Given the description of an element on the screen output the (x, y) to click on. 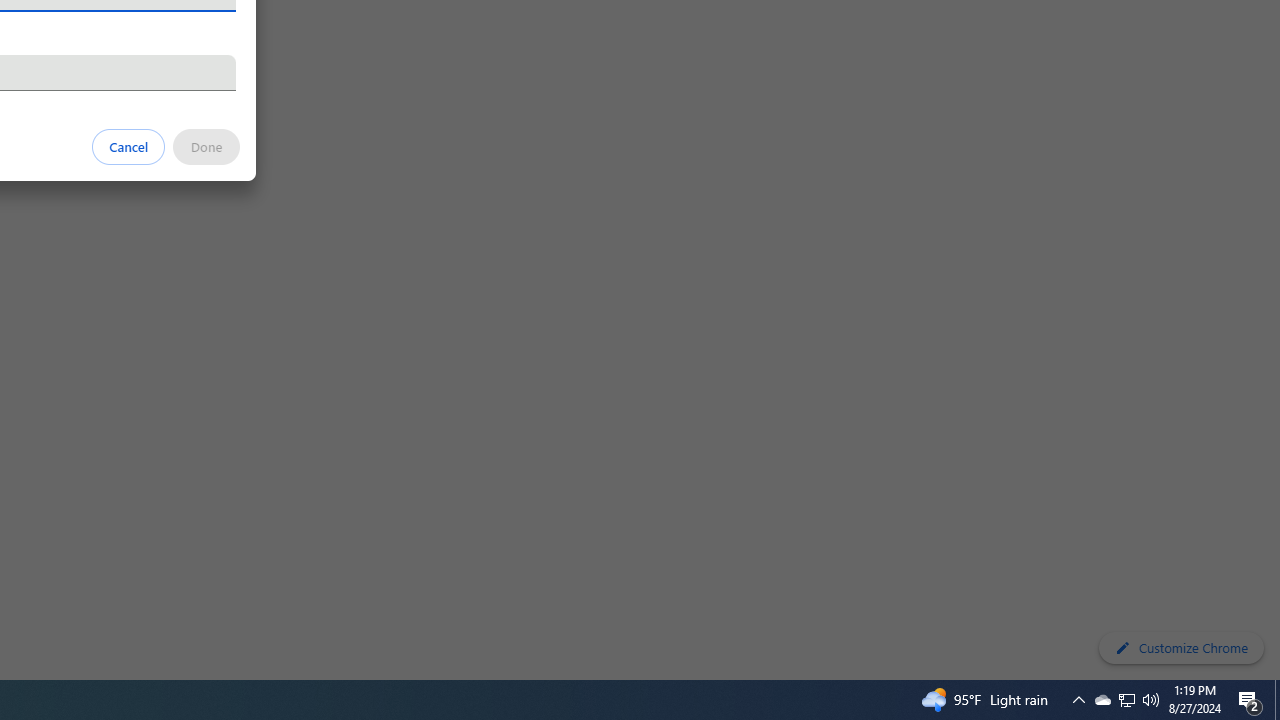
Cancel (129, 146)
Done (206, 146)
